Given the description of an element on the screen output the (x, y) to click on. 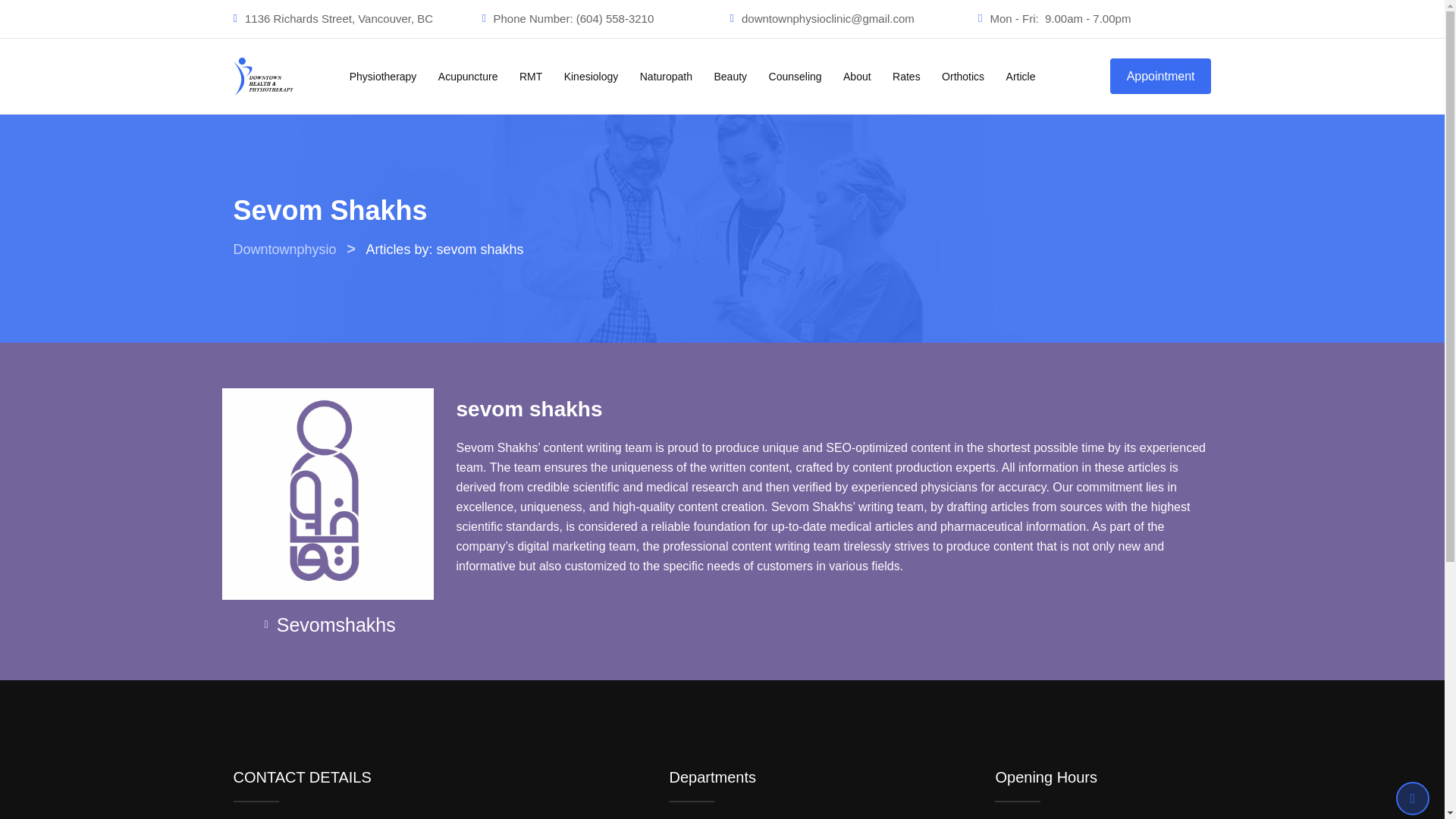
Acupuncture (467, 76)
Go to Downtownphysio. (284, 249)
Physiotherapy (383, 76)
Appointment (1160, 76)
